Given the description of an element on the screen output the (x, y) to click on. 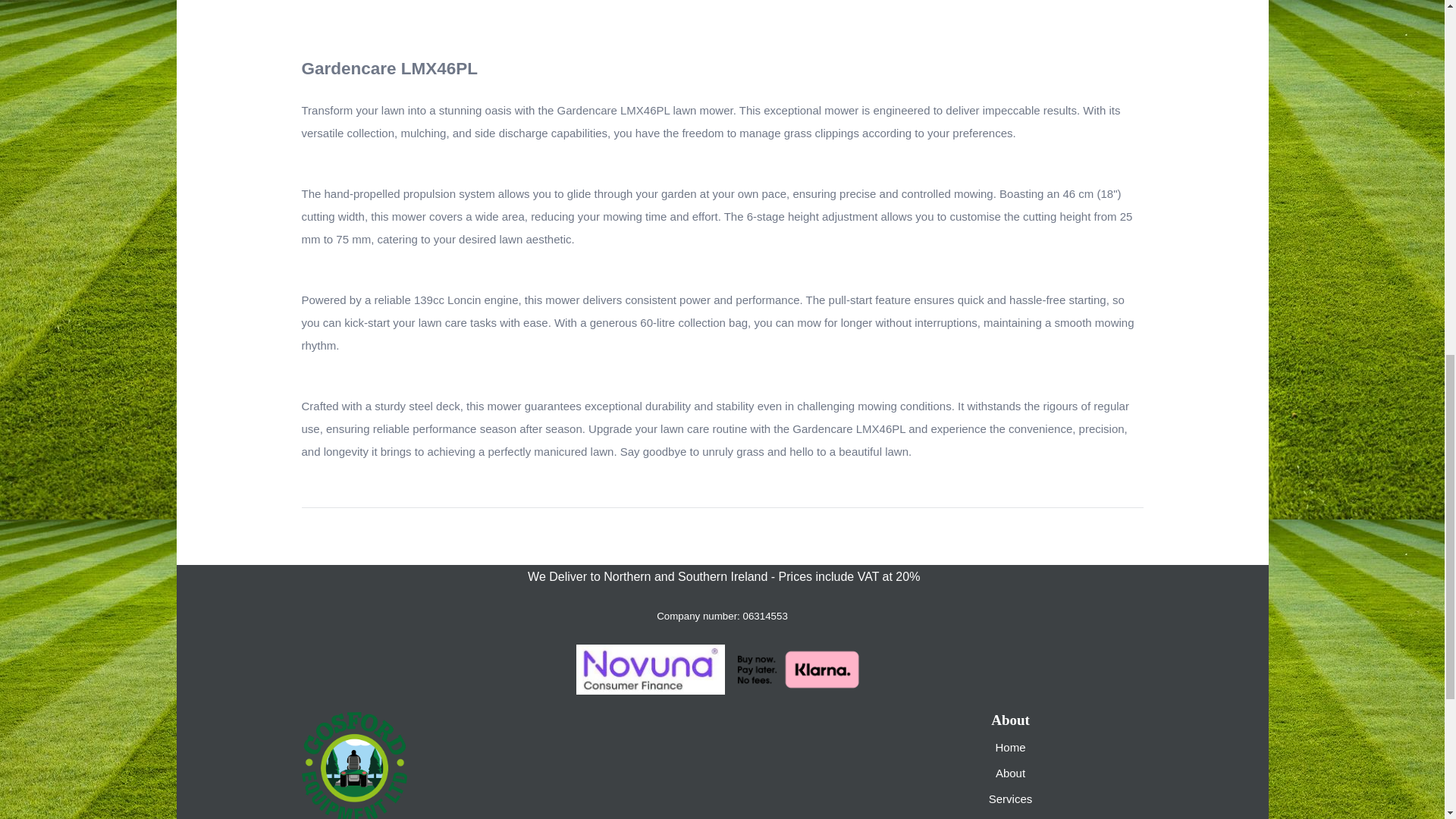
Home (1009, 747)
Services (1010, 798)
About (1010, 772)
klarna-banner-1024x391 (796, 669)
